Given the description of an element on the screen output the (x, y) to click on. 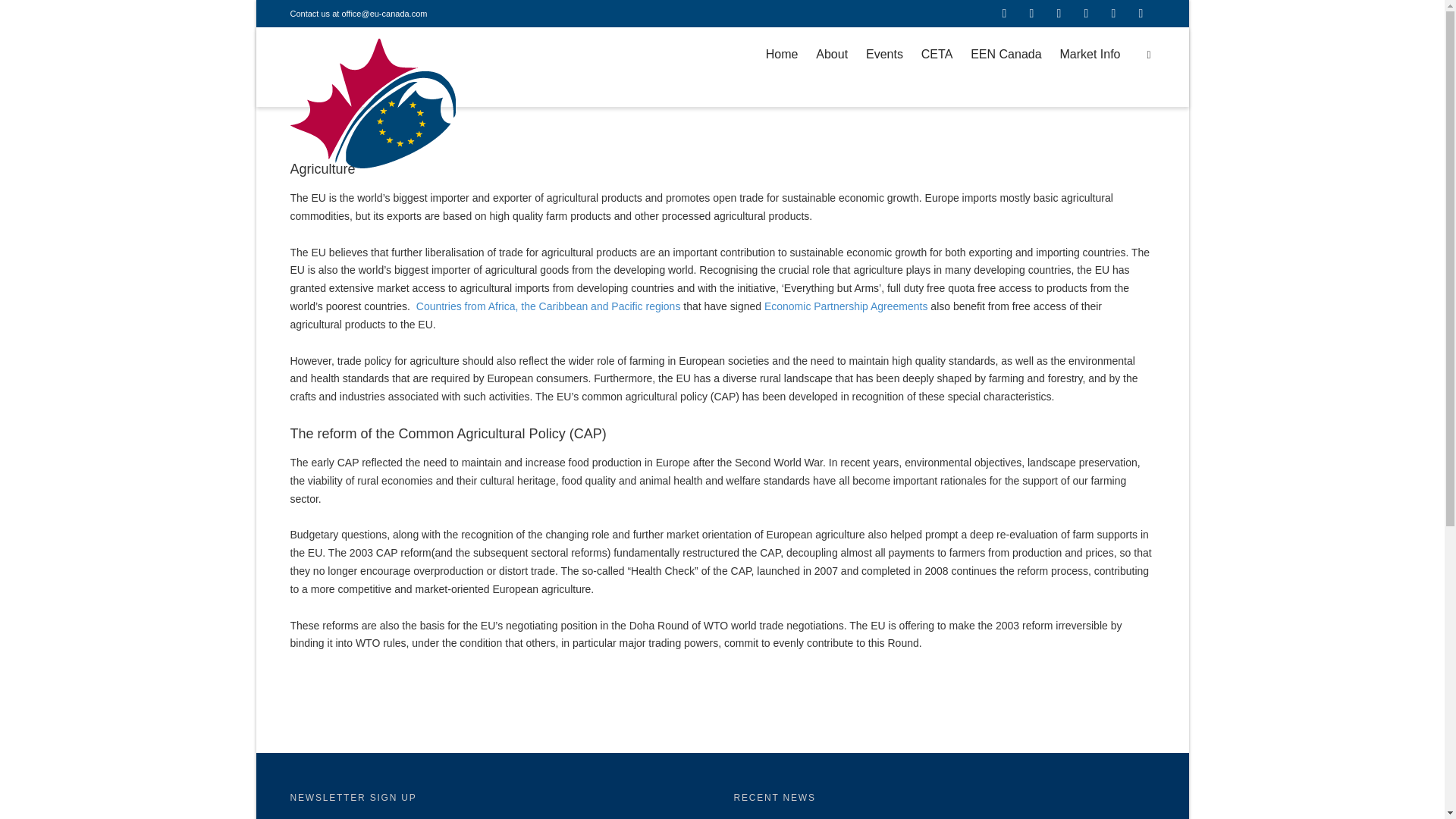
Home (781, 55)
Events (884, 55)
EEN Canada (1006, 55)
Economic Partnership Agreements (846, 306)
About (831, 55)
Countries from Africa, the Caribbean and Pacific regions (547, 306)
CETA (936, 55)
Market Info (1089, 55)
